Given the description of an element on the screen output the (x, y) to click on. 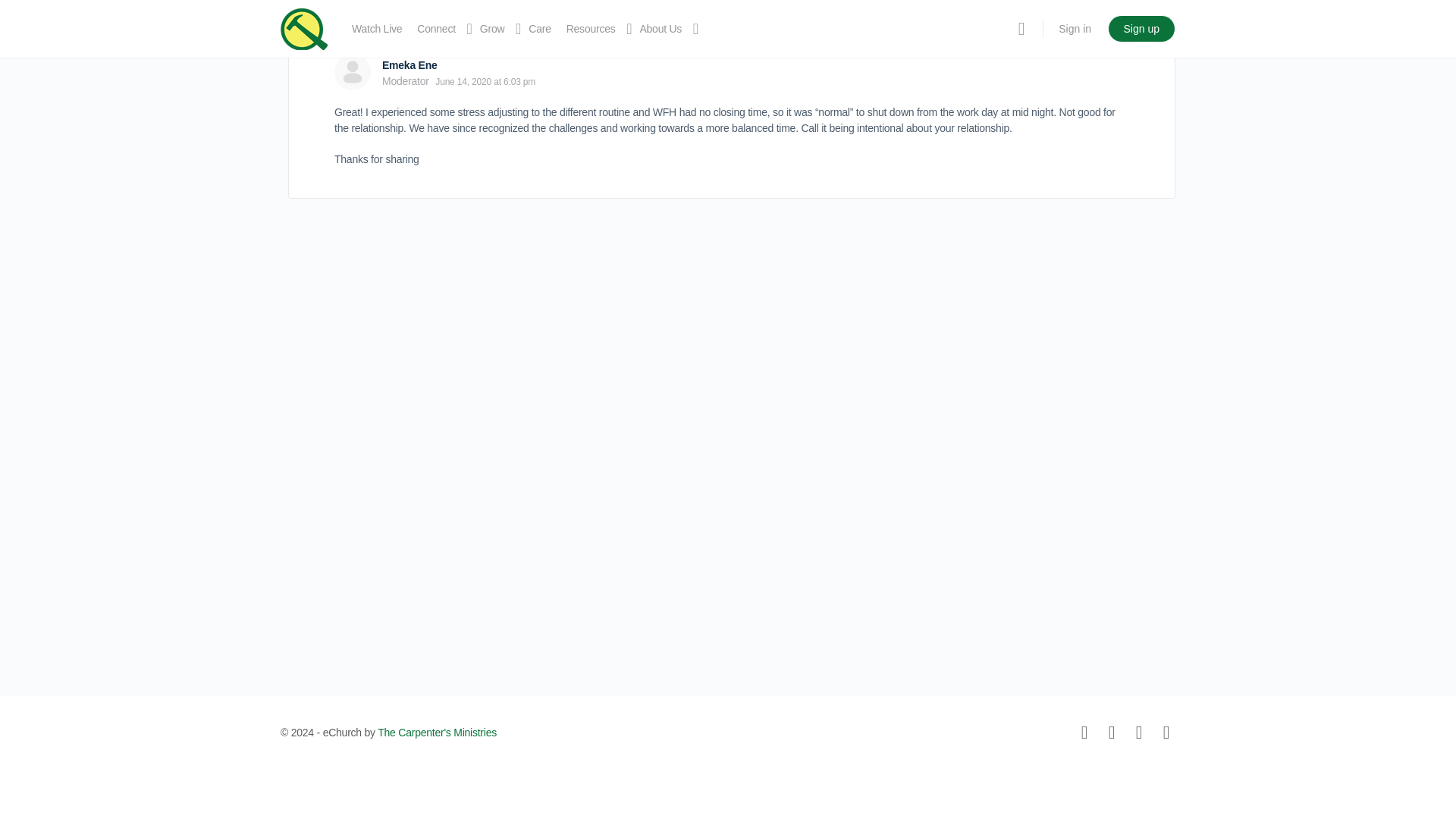
View Emeka Ene's profile (409, 64)
View Emeka Ene's profile (352, 72)
Sign up (1141, 28)
Sign in (1074, 28)
